Given the description of an element on the screen output the (x, y) to click on. 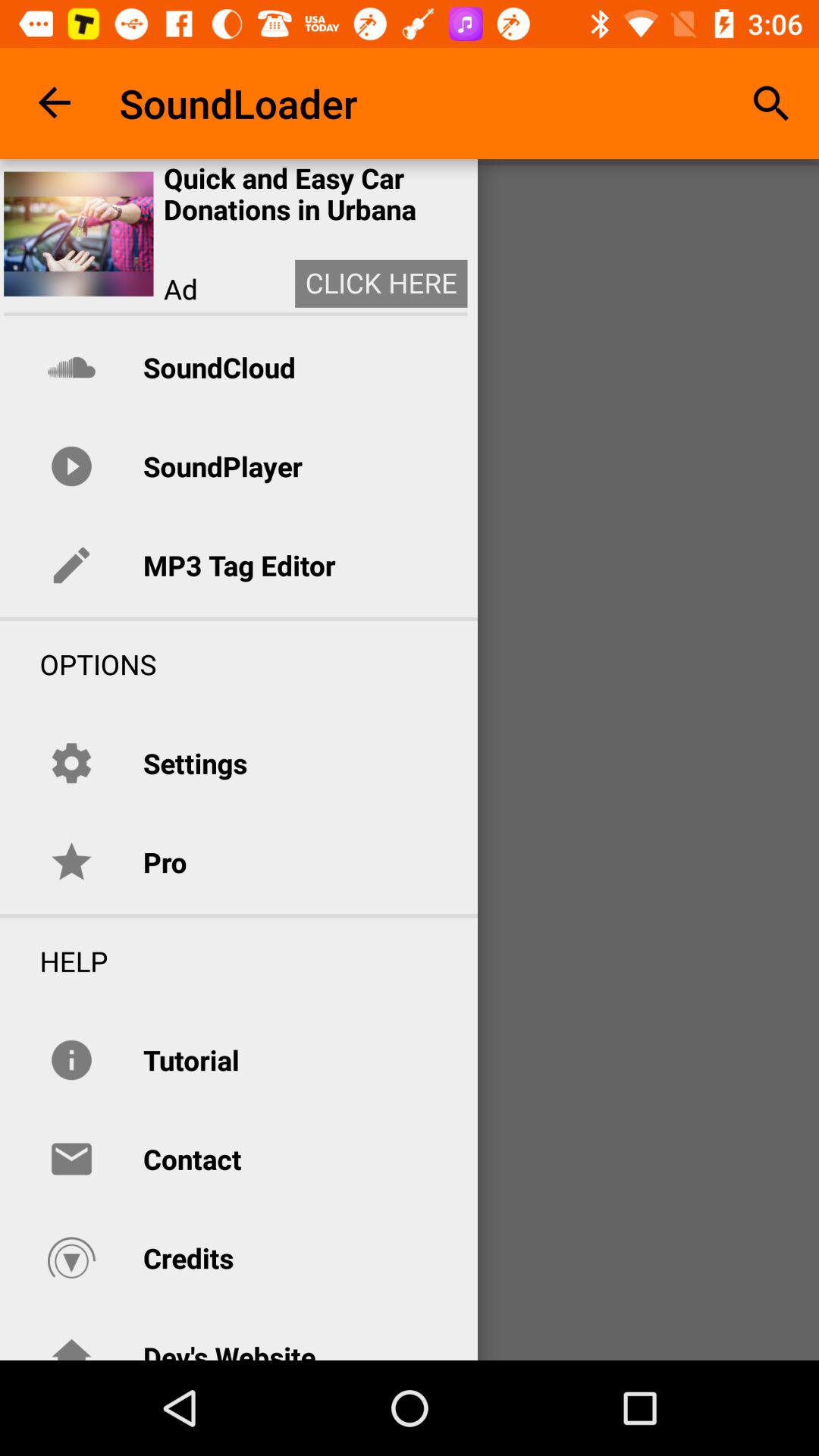
turn on item next to the ad icon (381, 283)
